Given the description of an element on the screen output the (x, y) to click on. 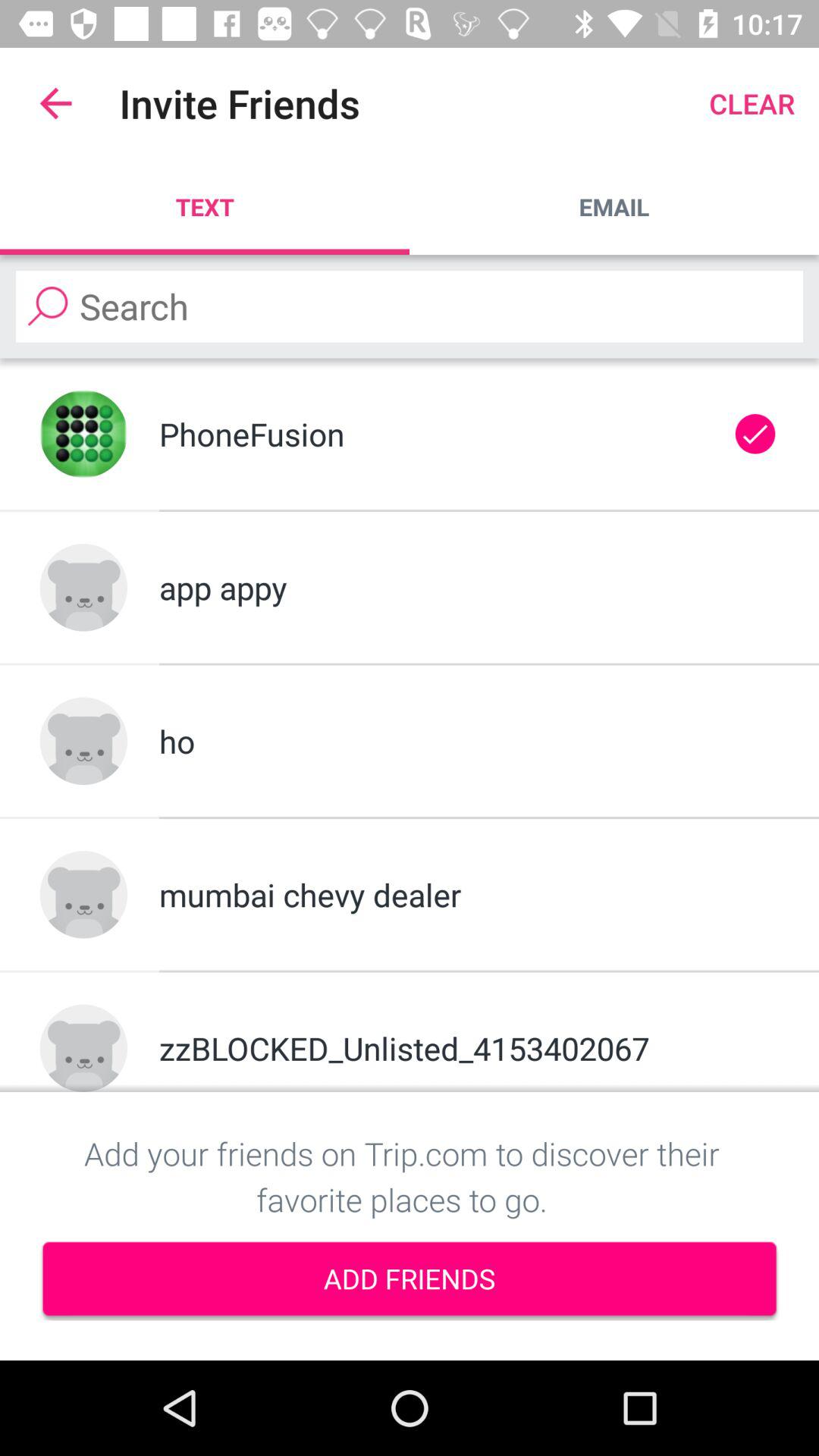
turn off clear (752, 103)
